Given the description of an element on the screen output the (x, y) to click on. 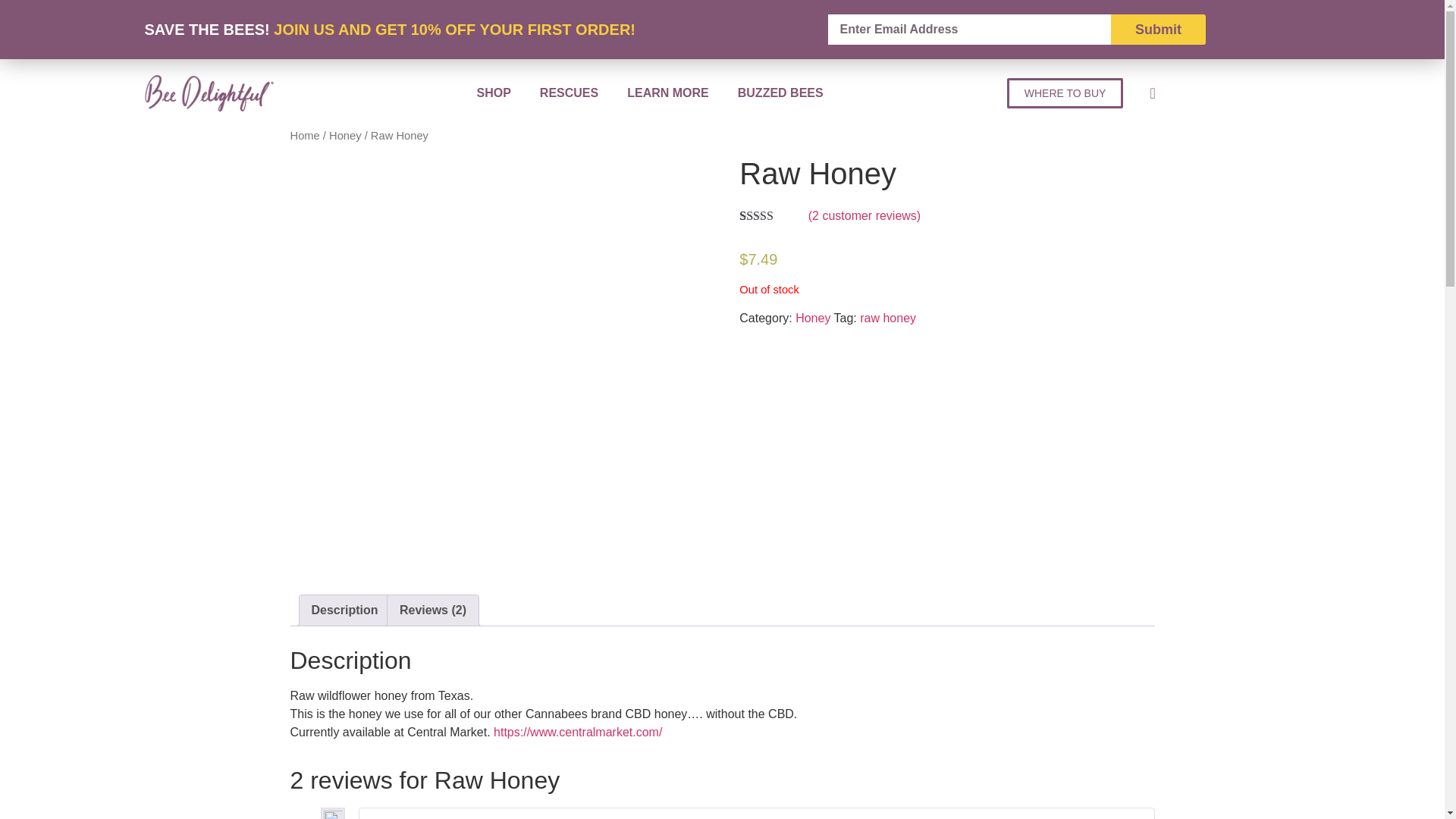
SHOP (493, 93)
Honey (811, 318)
BUZZED BEES (781, 93)
raw honey (887, 318)
Description (344, 610)
RESCUES (569, 93)
Honey (345, 135)
Home (303, 135)
Submit (1157, 29)
WHERE TO BUY (1065, 92)
